Given the description of an element on the screen output the (x, y) to click on. 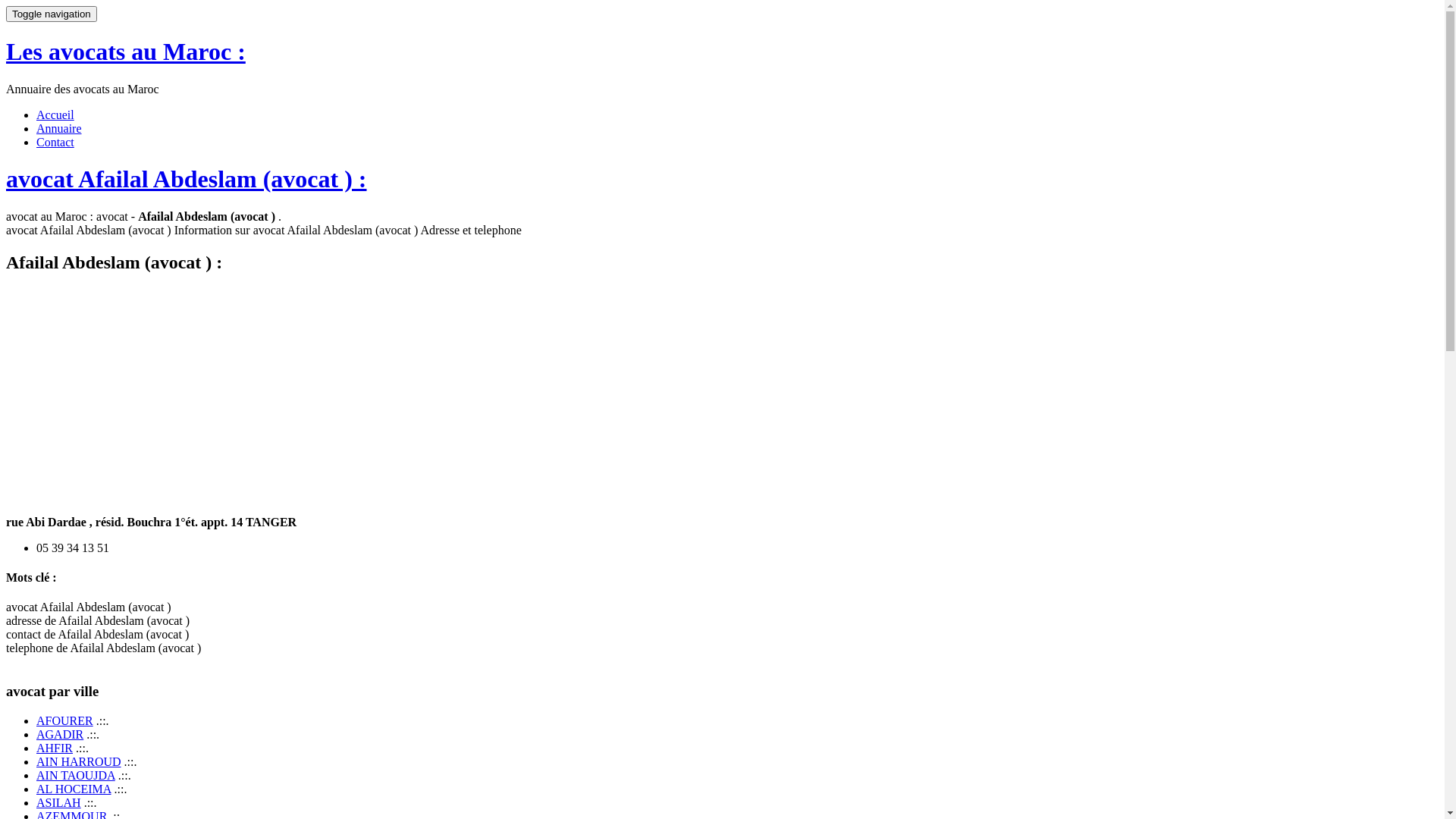
AIN TAOUJDA Element type: text (75, 774)
Toggle navigation Element type: text (51, 13)
avocat Afailal Abdeslam (avocat ) : Element type: text (186, 178)
Contact Element type: text (55, 141)
Annuaire Element type: text (58, 128)
AL HOCEIMA Element type: text (73, 788)
AFOURER Element type: text (64, 720)
Advertisement Element type: hover (390, 394)
Les avocats au Maroc : Element type: text (125, 51)
AHFIR Element type: text (54, 747)
AGADIR Element type: text (59, 734)
ASILAH Element type: text (58, 802)
AIN HARROUD Element type: text (78, 761)
Advertisement Element type: hover (133, 394)
Accueil Element type: text (55, 114)
